Given the description of an element on the screen output the (x, y) to click on. 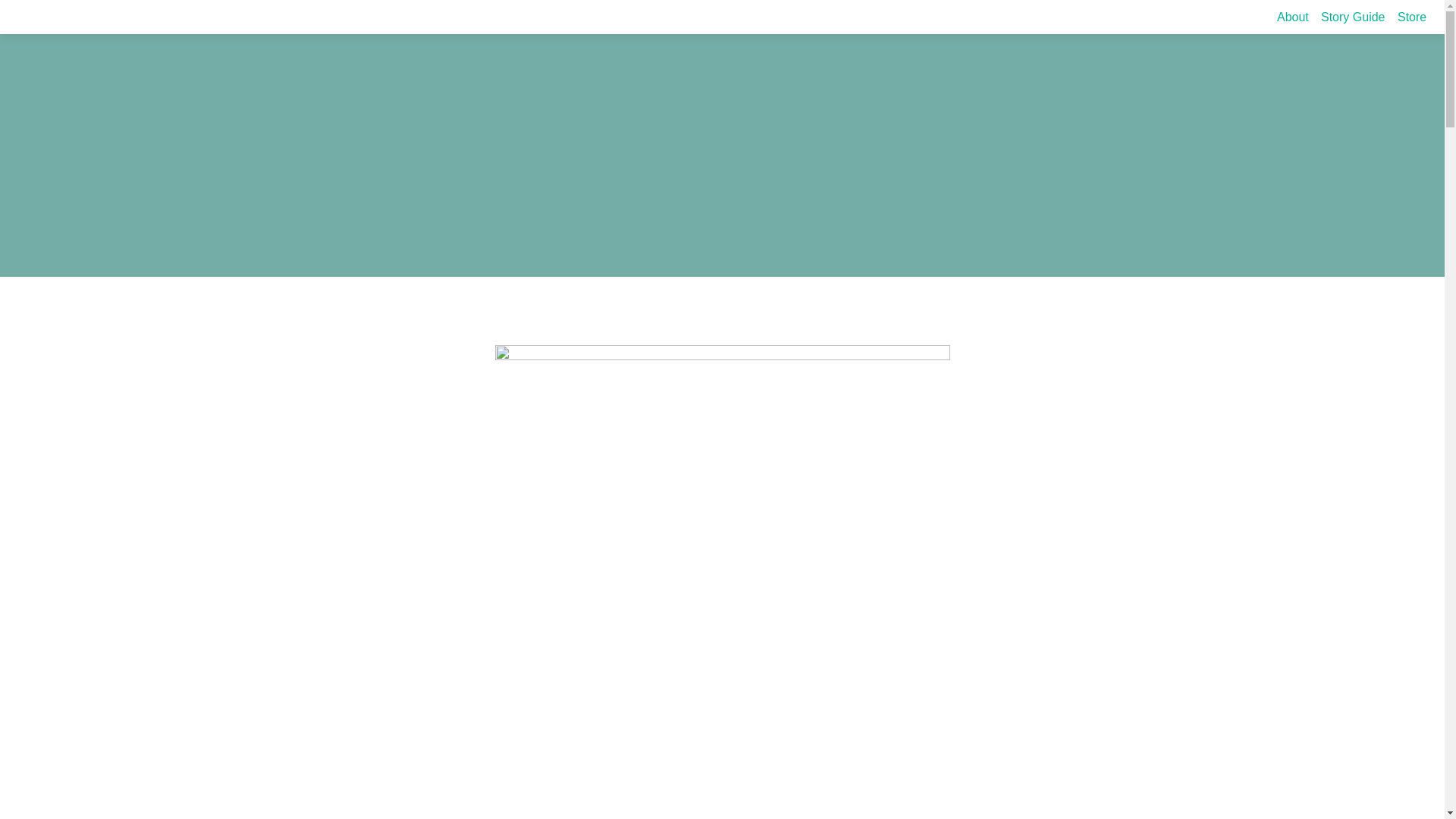
Story Guide (1352, 16)
Store (1411, 16)
Story Guide (1352, 16)
Store (1411, 16)
About (1292, 16)
About (1292, 16)
